Given the description of an element on the screen output the (x, y) to click on. 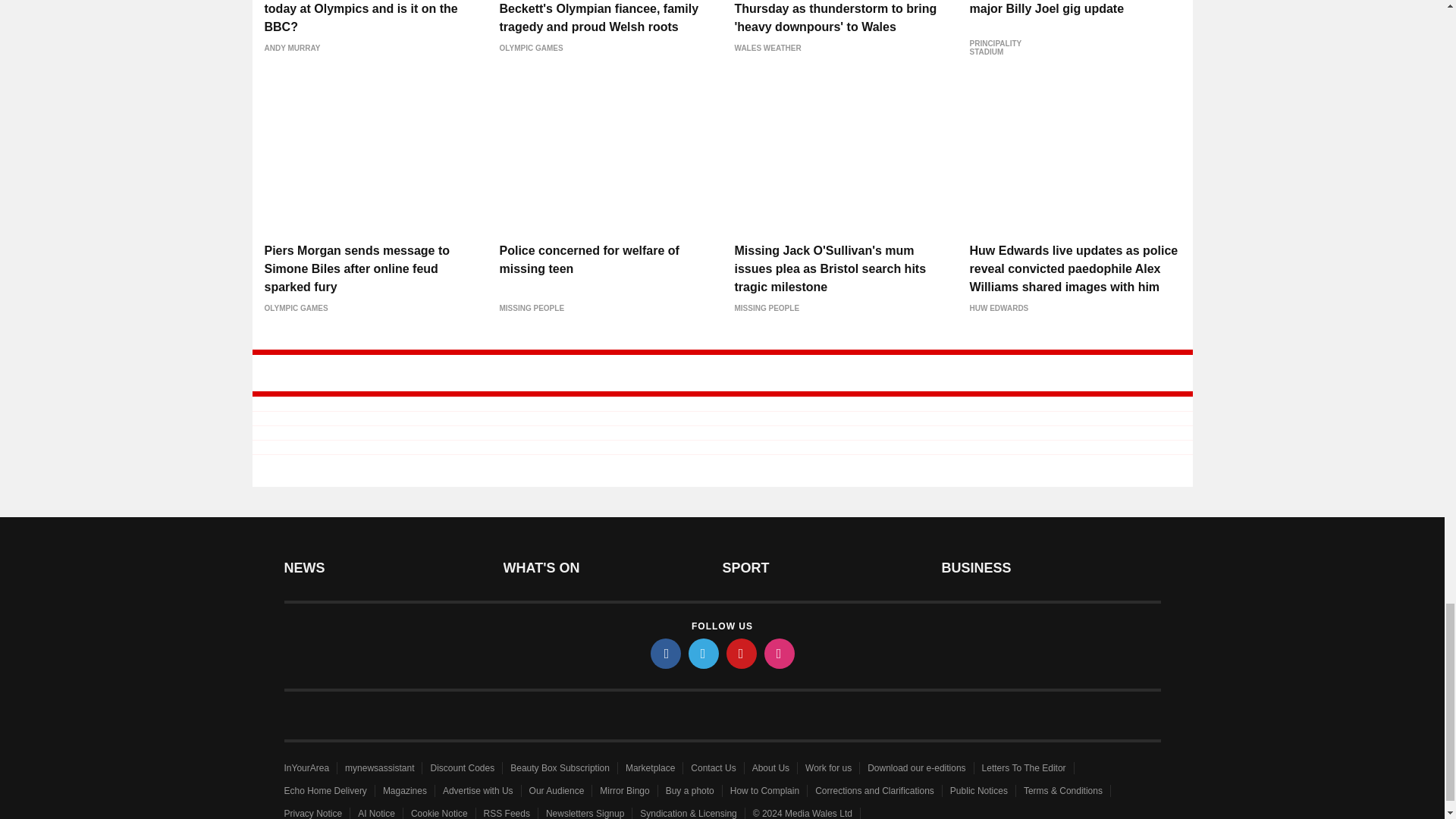
twitter (703, 653)
pinterest (741, 653)
instagram (779, 653)
facebook (665, 653)
